Given the description of an element on the screen output the (x, y) to click on. 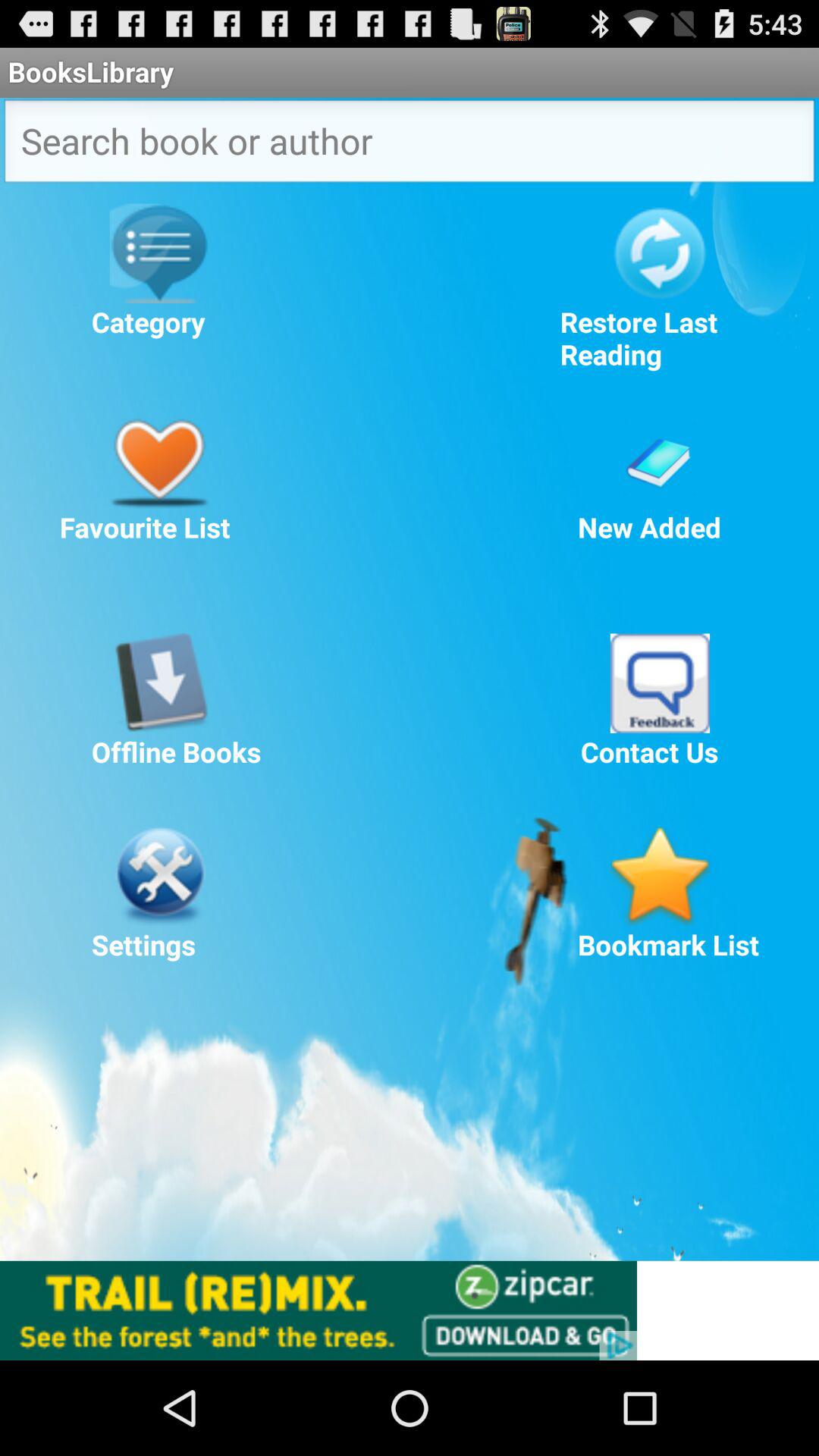
check newly added (659, 458)
